Given the description of an element on the screen output the (x, y) to click on. 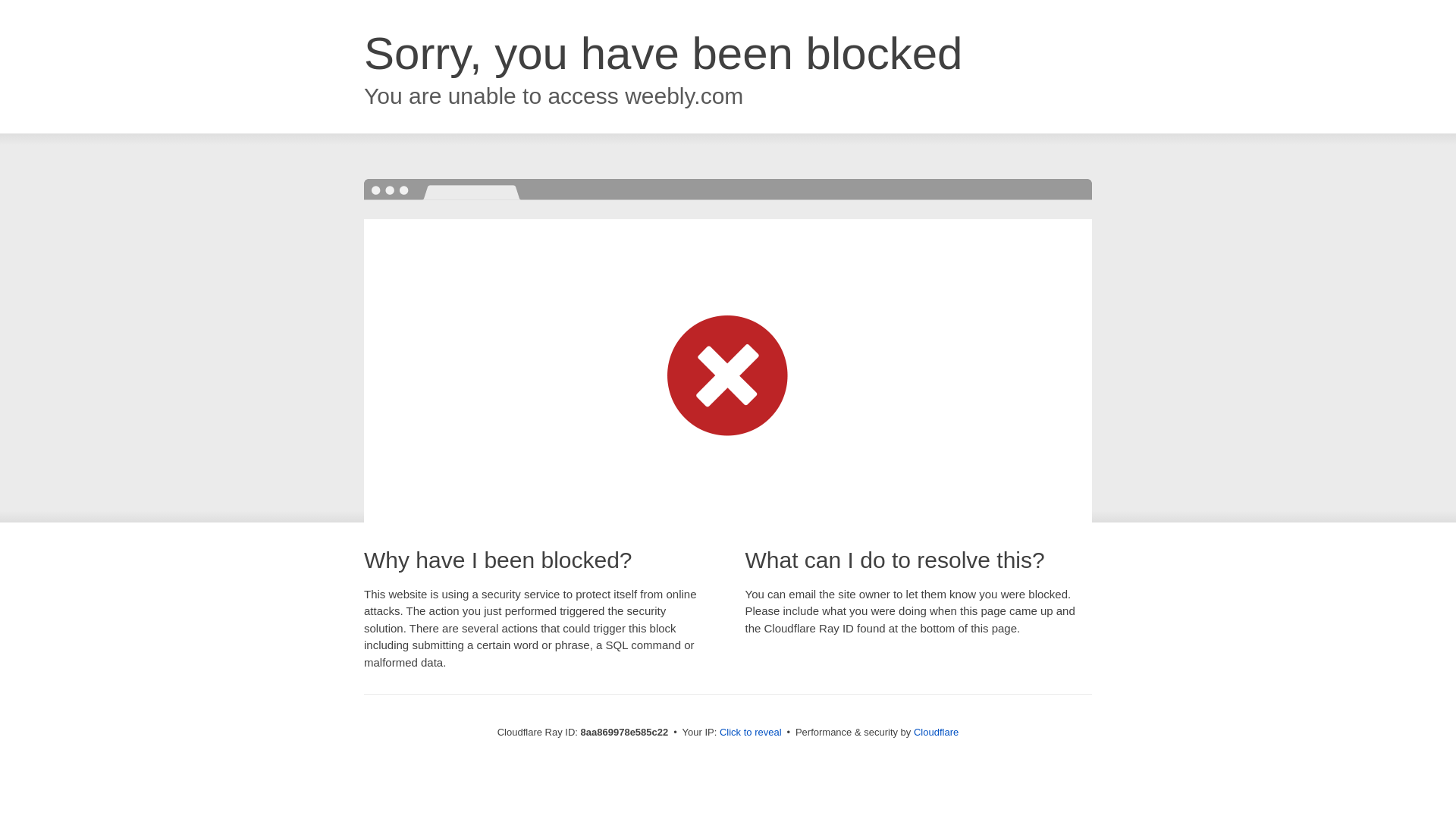
Cloudflare (936, 731)
Click to reveal (750, 732)
